Given the description of an element on the screen output the (x, y) to click on. 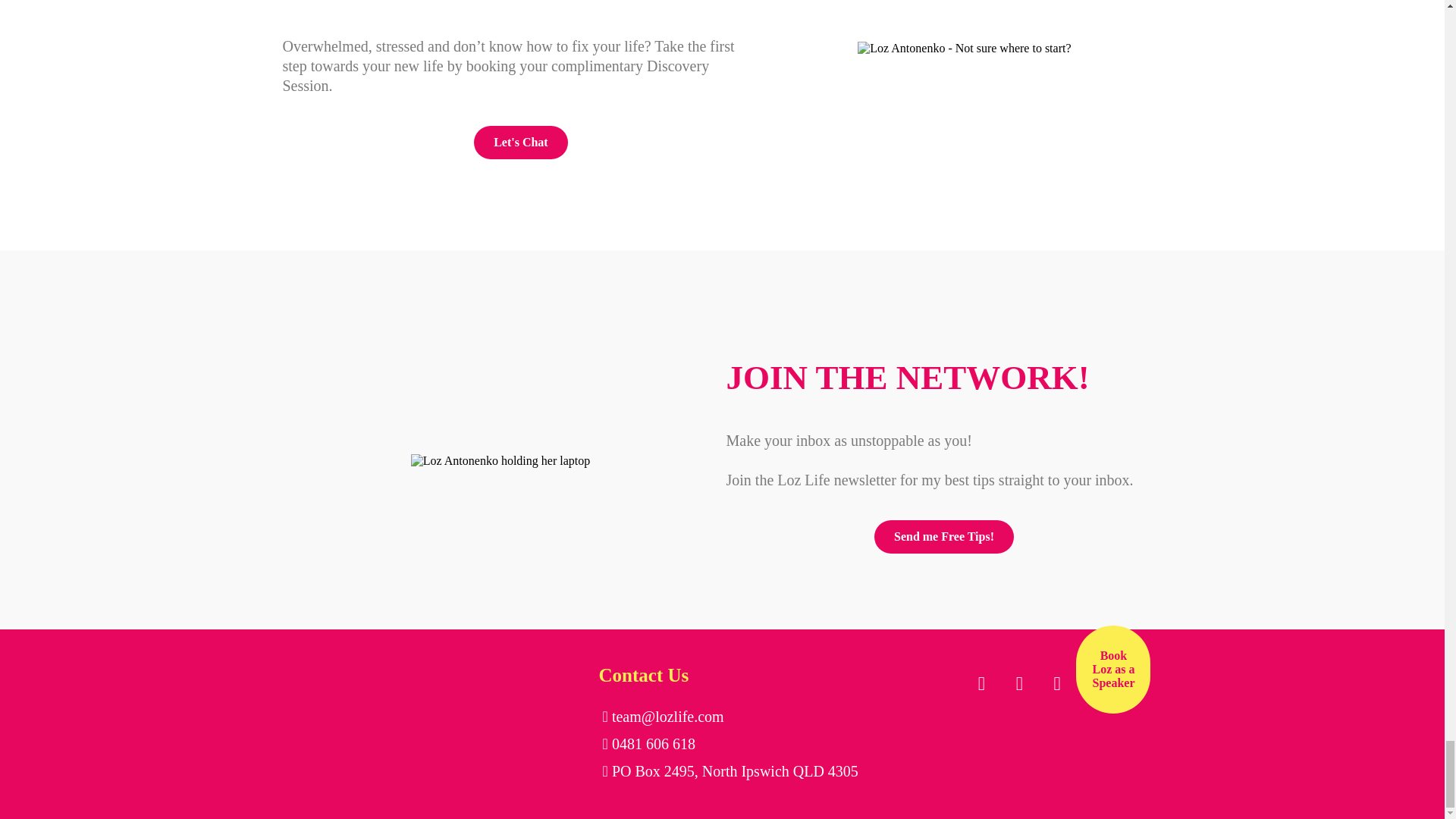
Let's Chat (520, 142)
Send me Free Tips! (944, 536)
